Given the description of an element on the screen output the (x, y) to click on. 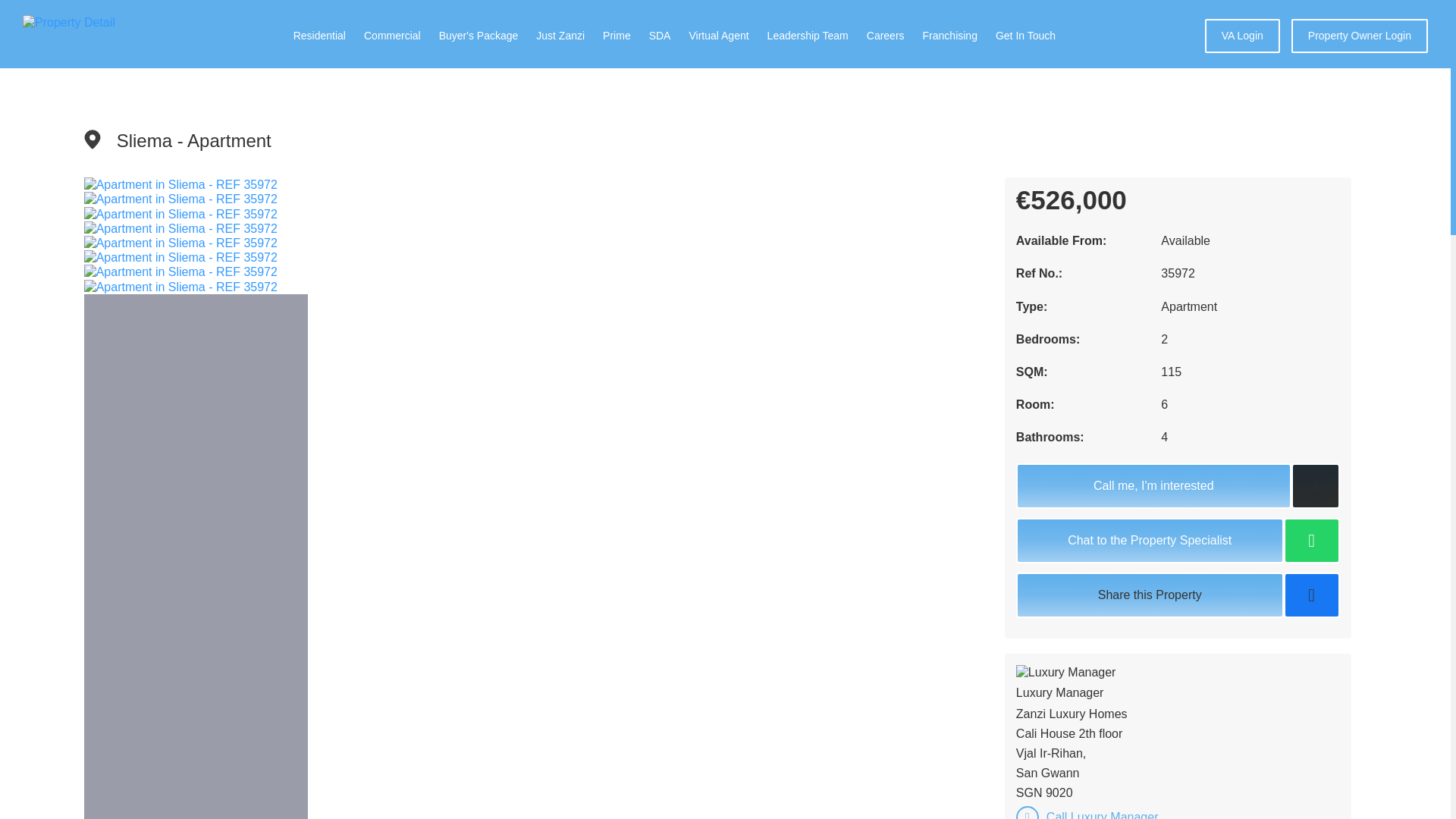
Franchising (949, 35)
Property Owner Login (1359, 35)
Commercial (392, 35)
Residential (320, 35)
SDA (660, 35)
Call me, I'm interested (1153, 484)
Virtual Agent (718, 35)
Careers (885, 35)
Buyer'S Package (478, 35)
Call Luxury Manager (1102, 813)
